Given the description of an element on the screen output the (x, y) to click on. 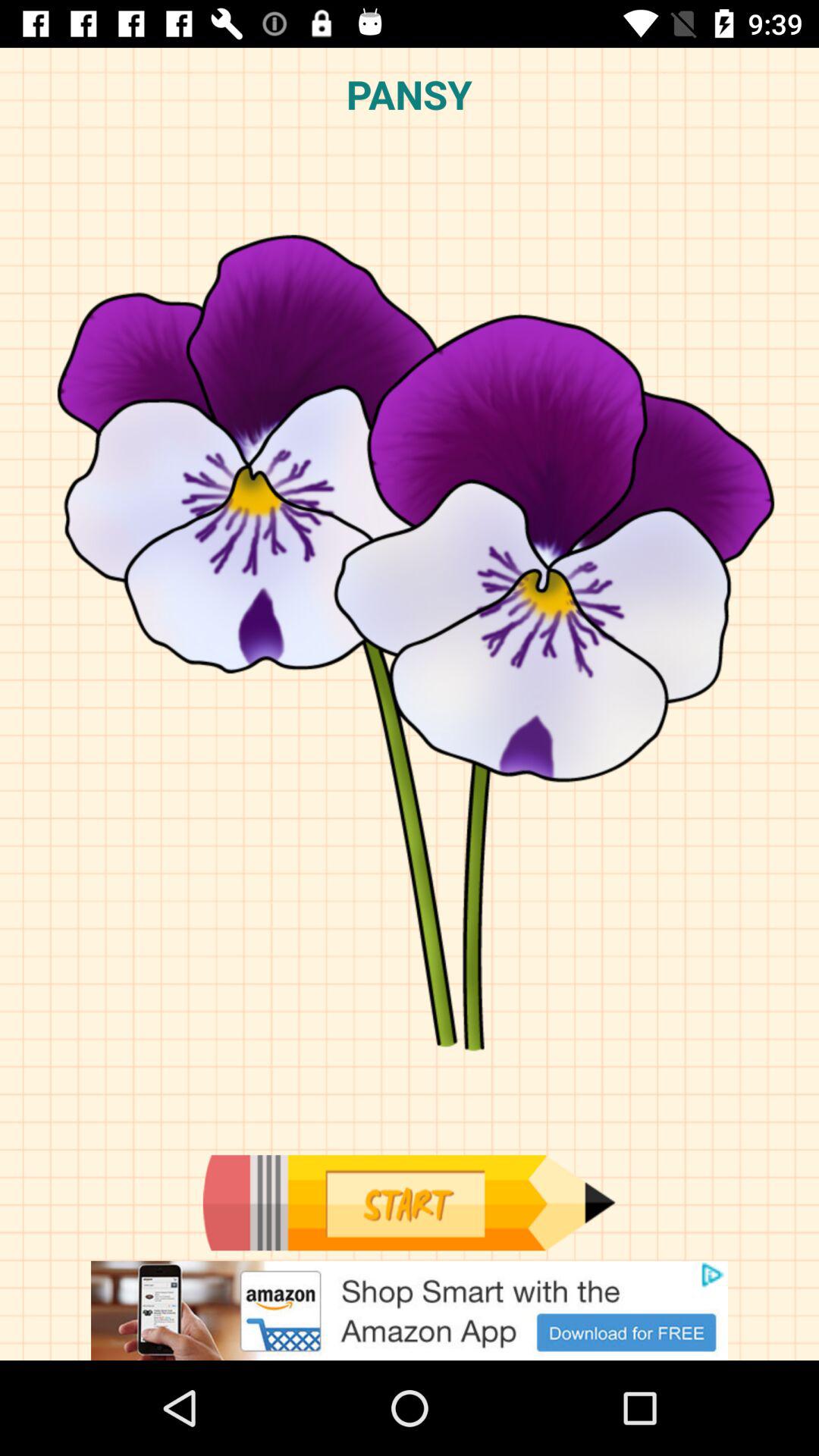
start the event (409, 1202)
